Given the description of an element on the screen output the (x, y) to click on. 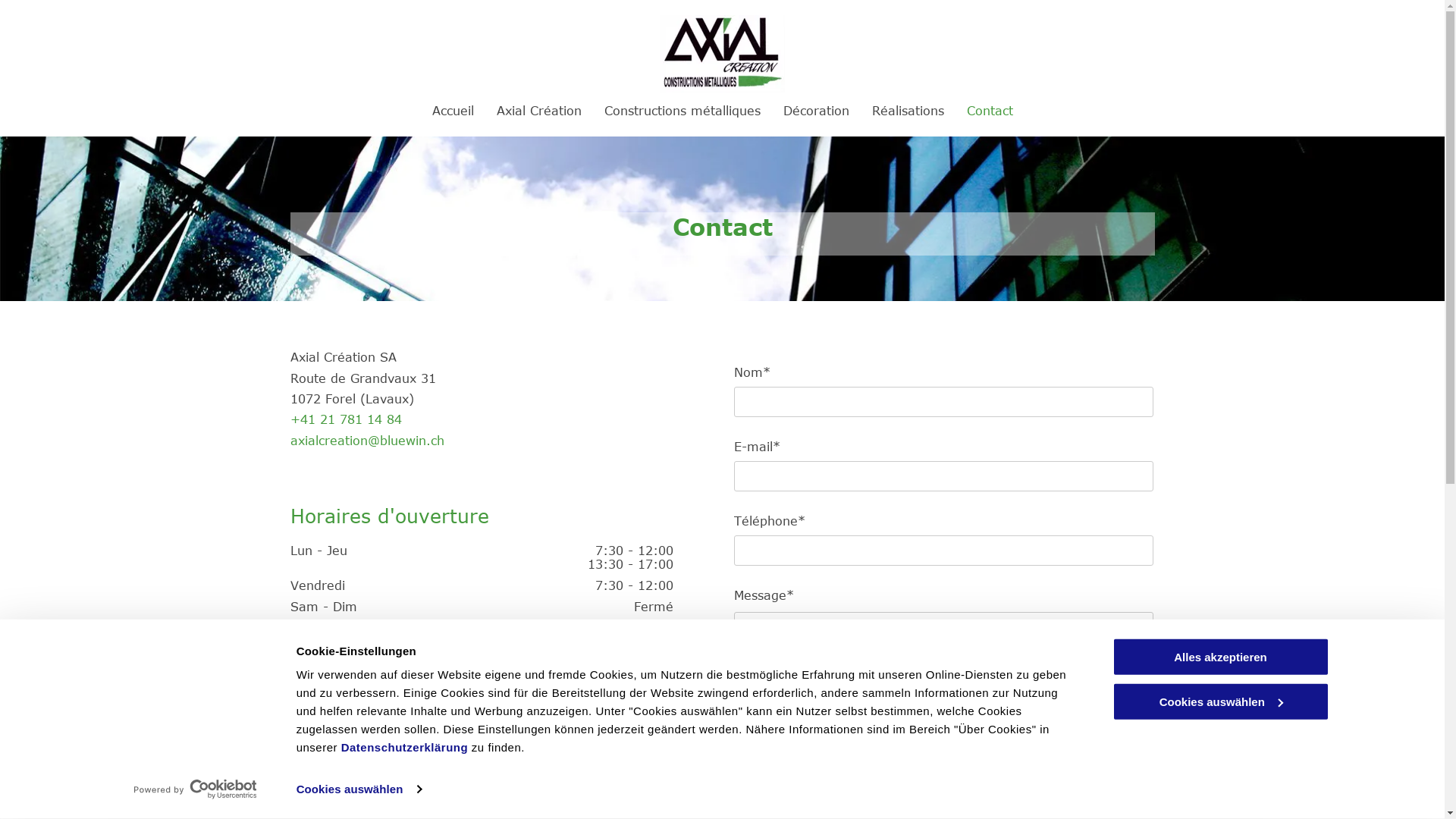
axialcreation@bluewin.ch Element type: text (366, 440)
Contact Element type: text (989, 110)
+41 21 781 14 84 Element type: text (345, 419)
Alles akzeptieren Element type: text (1219, 656)
Accueil Element type: text (452, 110)
Envoyer Element type: text (778, 732)
